Given the description of an element on the screen output the (x, y) to click on. 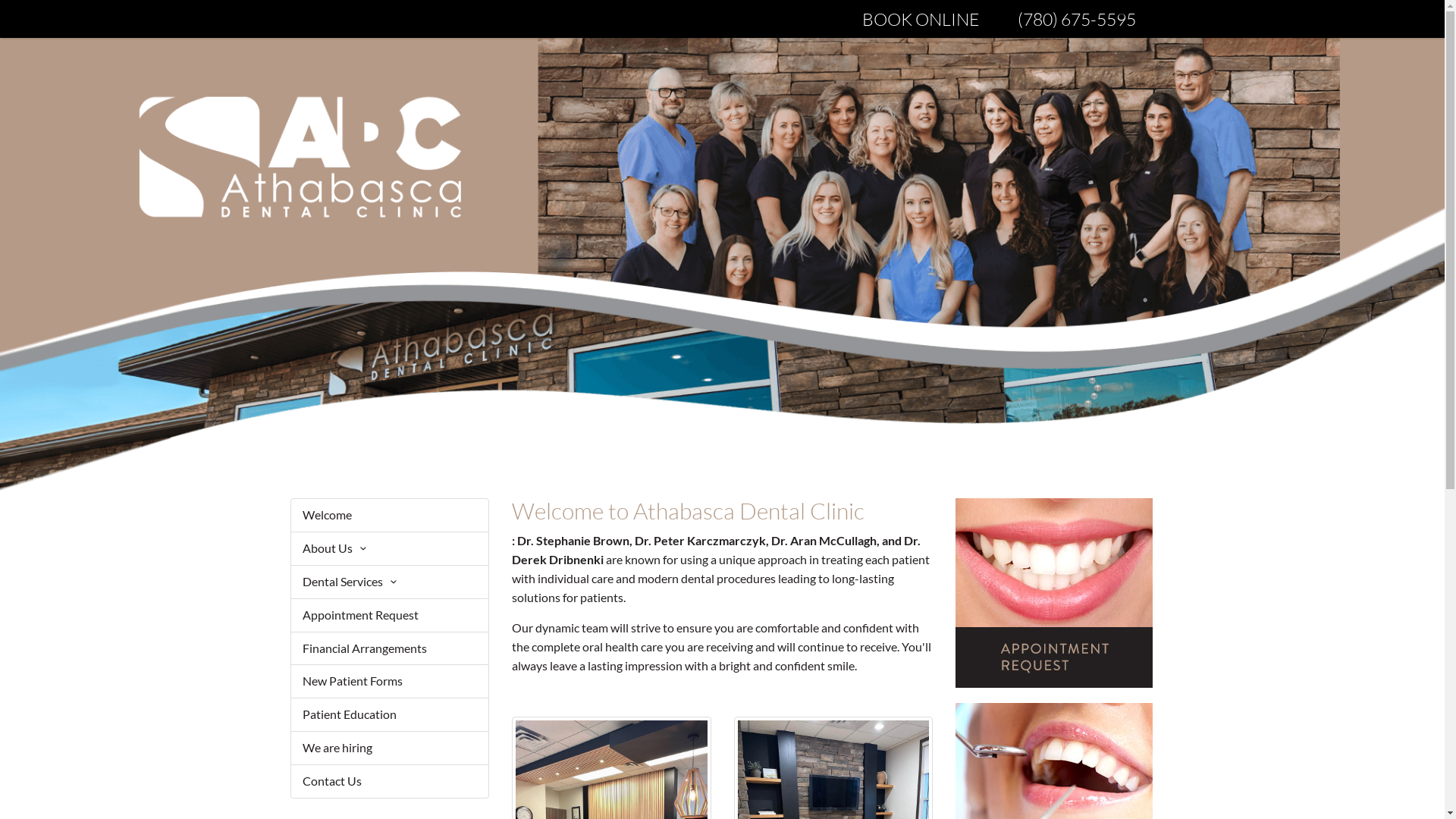
About Us Element type: text (390, 548)
BOOK ONLINE Element type: text (920, 18)
Welcome Element type: text (390, 514)
Contact Us Element type: text (390, 781)
Financial Arrangements Element type: text (390, 648)
Dental Services Element type: text (390, 581)
We are hiring Element type: text (390, 747)
New Patient Forms Element type: text (390, 681)
Appointment Request Element type: text (390, 615)
Patient Education Element type: text (390, 714)
(780) 675-5595 Element type: text (1075, 18)
